Given the description of an element on the screen output the (x, y) to click on. 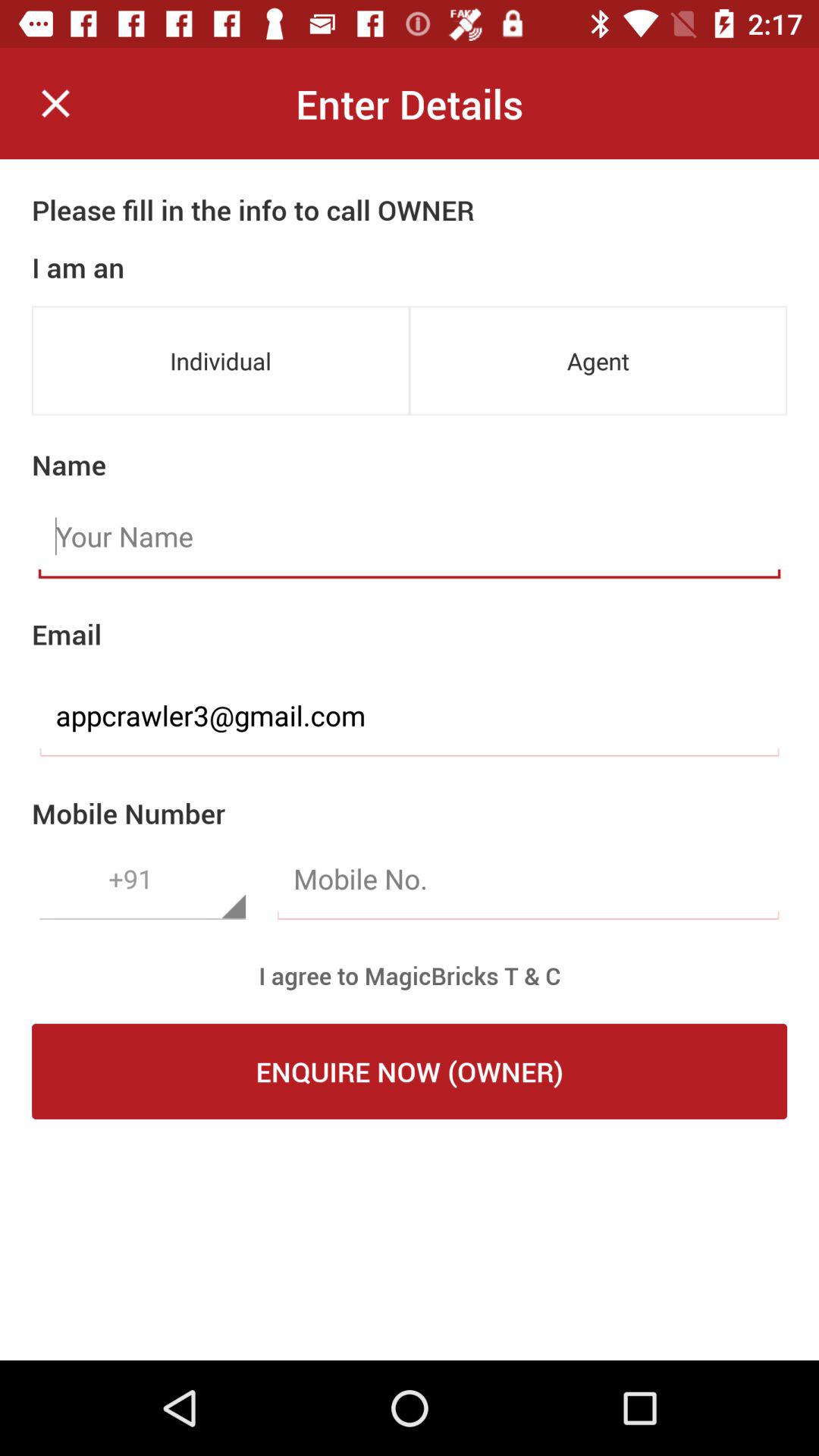
tap the item to the left of enter details item (55, 103)
